Given the description of an element on the screen output the (x, y) to click on. 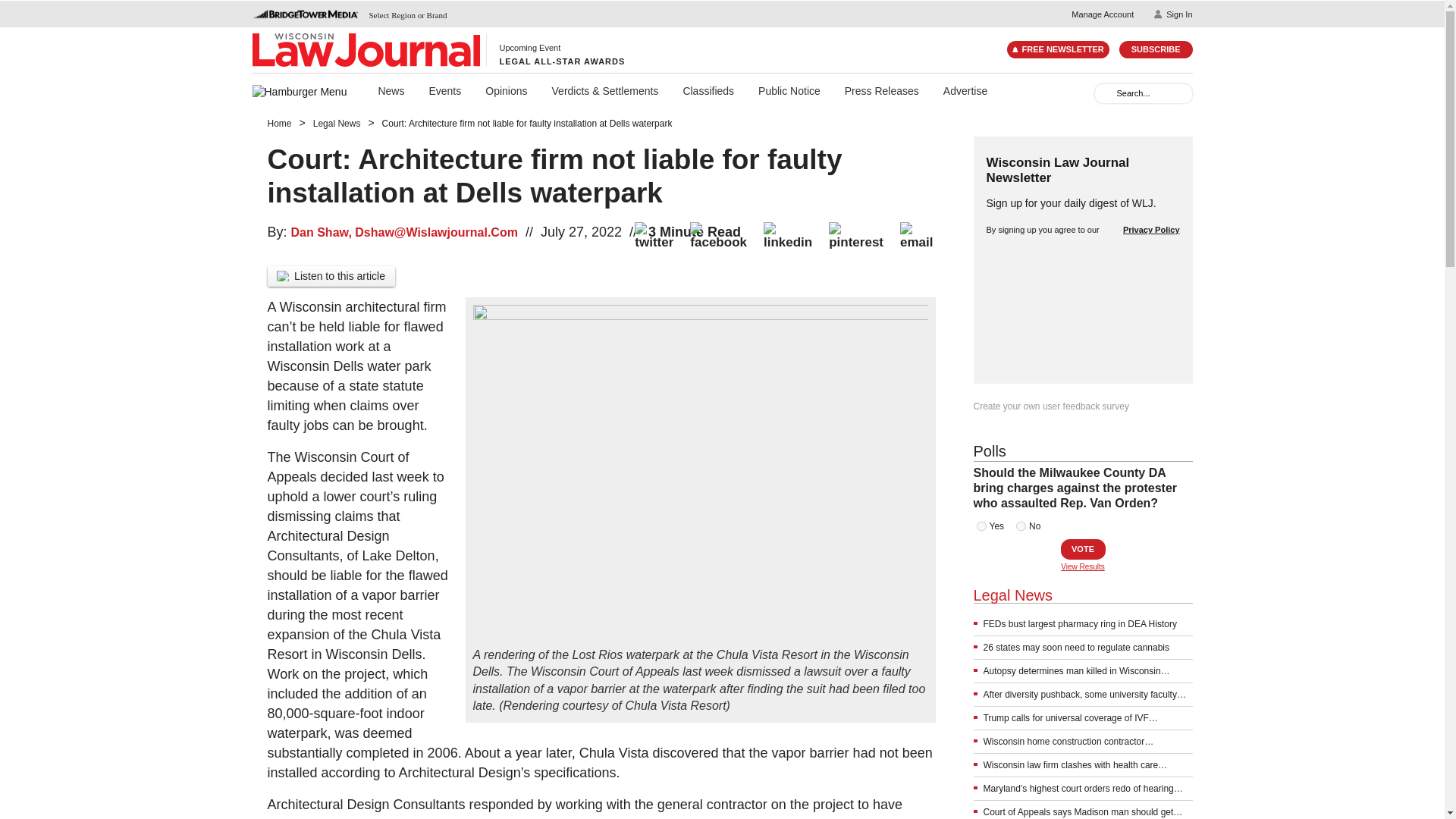
Share by Email (916, 235)
503 (981, 525)
View Results Of This Poll (1083, 566)
   Vote    (1082, 548)
504 (1021, 525)
